Given the description of an element on the screen output the (x, y) to click on. 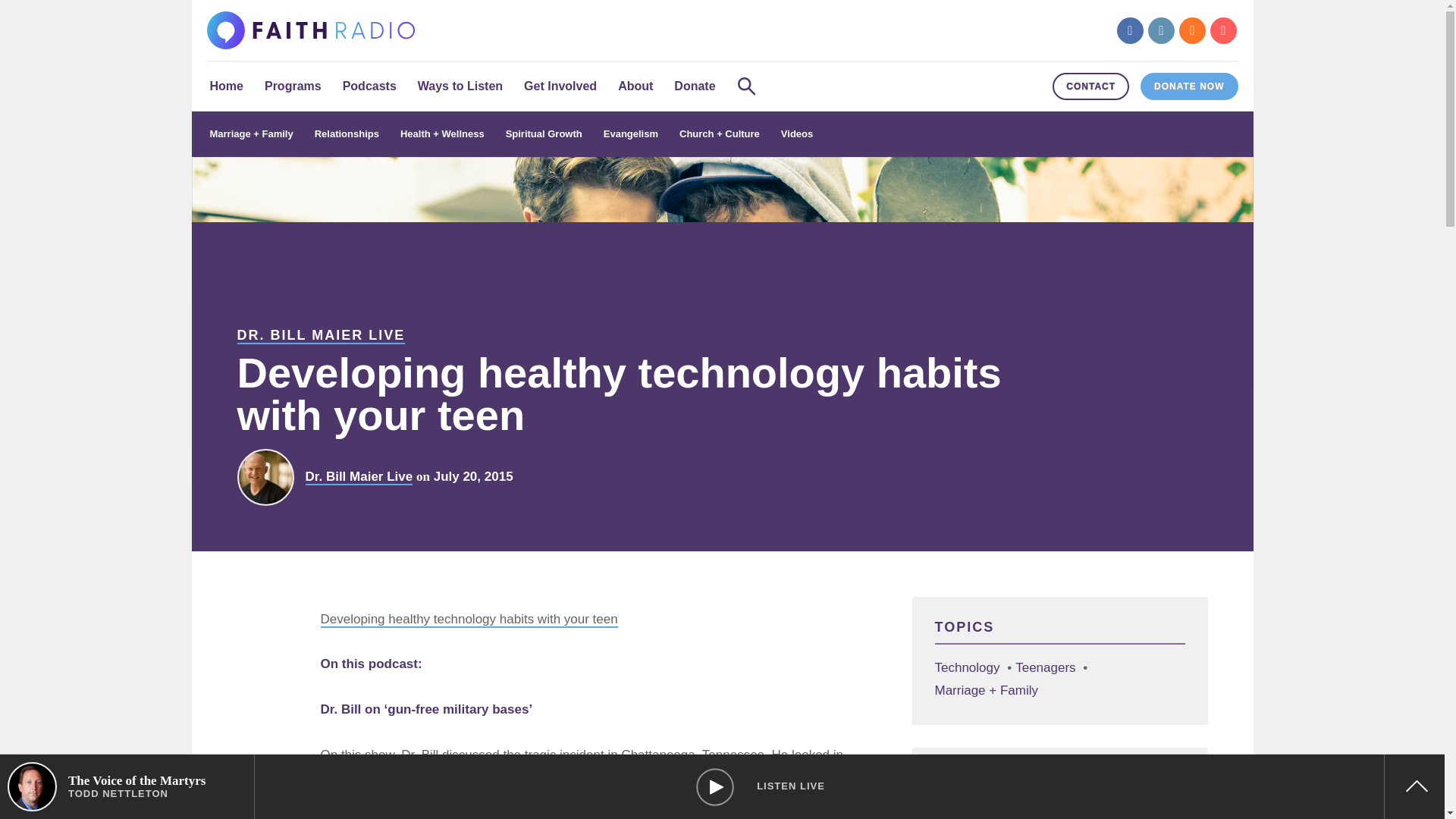
Youtube (1222, 29)
Podcasts (369, 86)
Instagram (1161, 29)
CONTACT (1090, 85)
Facebook (1129, 29)
Donate (694, 86)
About (635, 86)
DONATE NOW (1188, 85)
Home (225, 86)
Get Involved (560, 86)
